Given the description of an element on the screen output the (x, y) to click on. 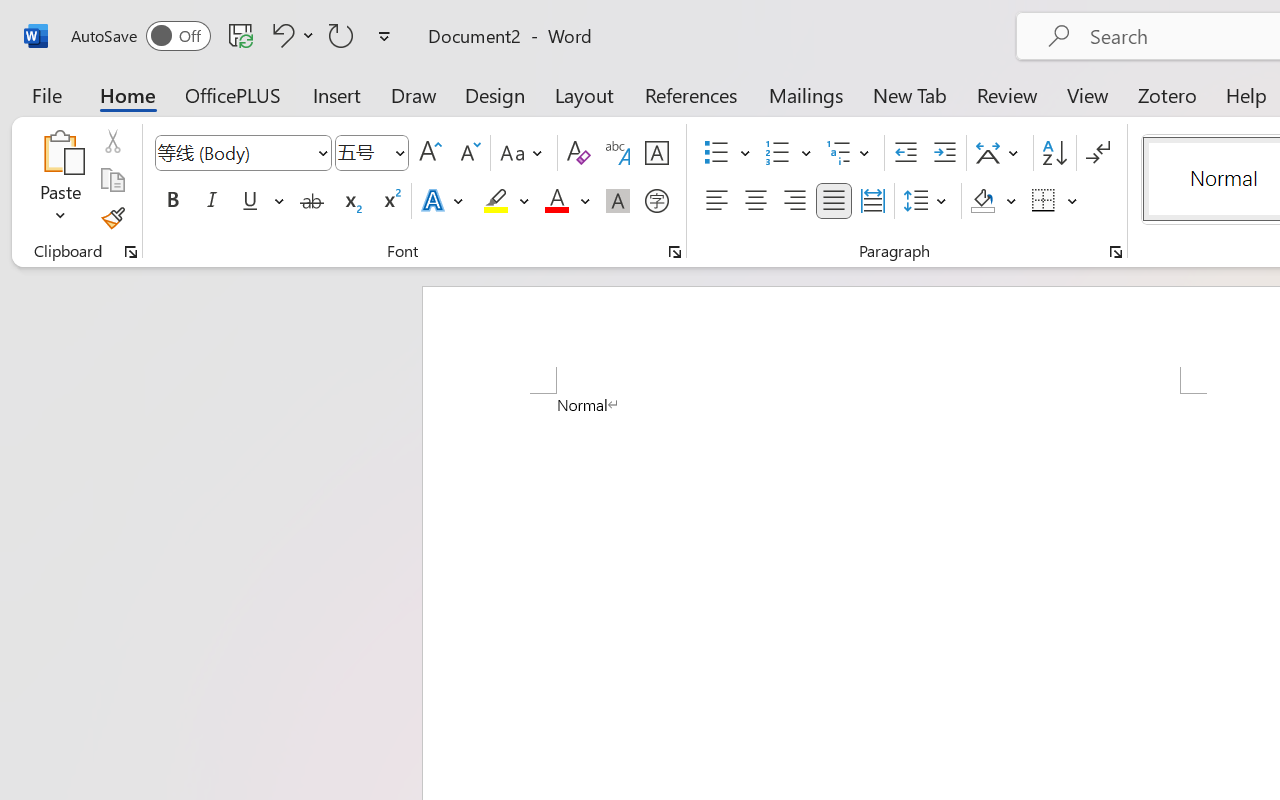
Text Highlight Color Yellow (495, 201)
Save (241, 35)
Underline (250, 201)
Character Border (656, 153)
Zotero (1166, 94)
Customize Quick Access Toolbar (384, 35)
Increase Indent (944, 153)
Font... (675, 252)
Underline (261, 201)
Numbering (778, 153)
Justify (834, 201)
Quick Access Toolbar (233, 36)
New Tab (909, 94)
Paragraph... (1115, 252)
Open (399, 152)
